Given the description of an element on the screen output the (x, y) to click on. 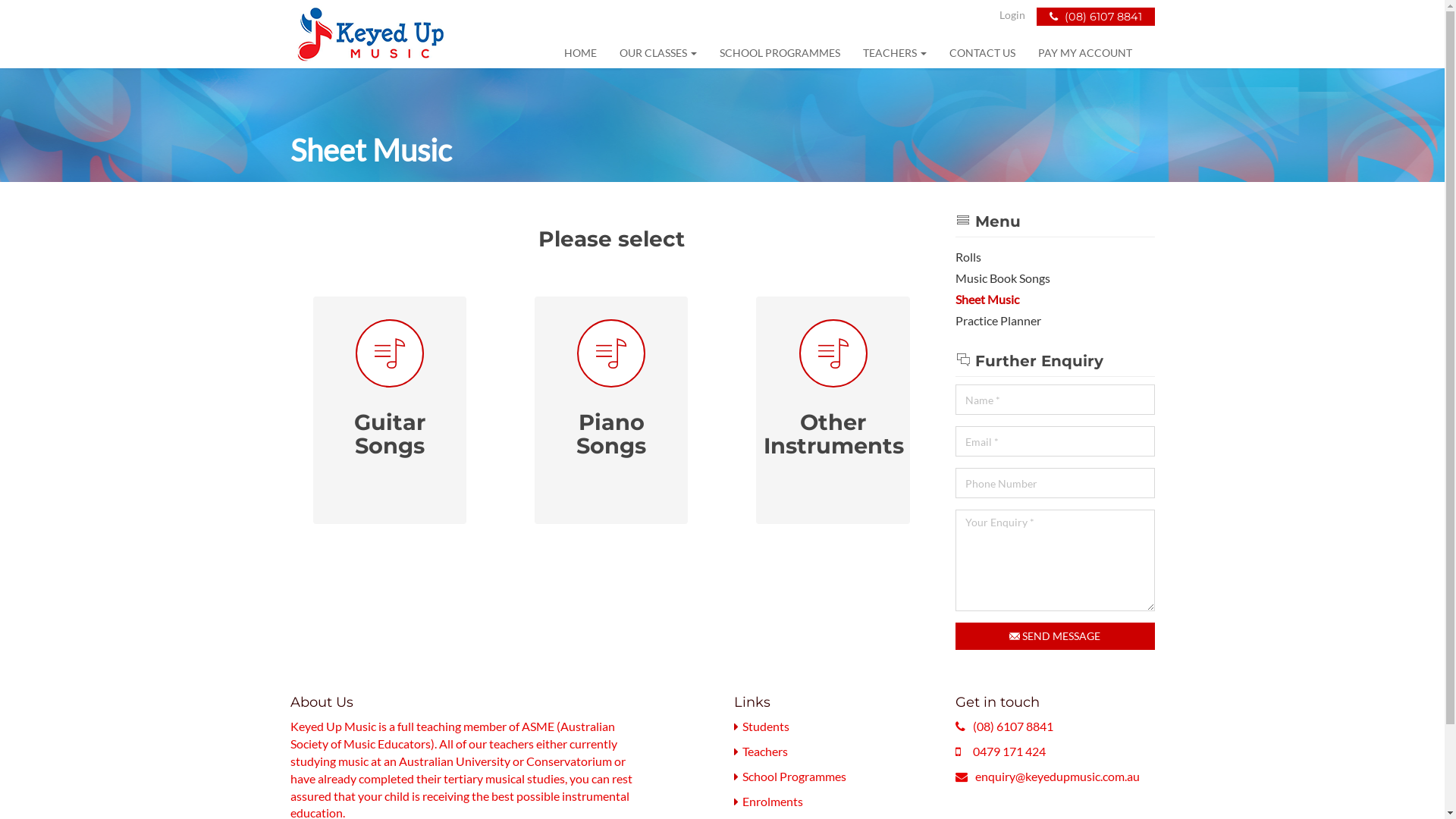
PAY MY ACCOUNT Element type: text (1084, 52)
Other
Instruments Element type: text (832, 388)
(08) 6107 8841 Element type: text (1012, 725)
Guitar
Songs Element type: text (389, 388)
enquiry@keyedupmusic.com.au Element type: text (1057, 775)
SEND MESSAGE Element type: text (1054, 635)
OUR CLASSES Element type: text (658, 52)
CONTACT US Element type: text (981, 52)
(08) 6107 8841 Element type: text (1094, 16)
Rolls Element type: text (1054, 257)
School Programmes Element type: text (793, 775)
Students Element type: text (764, 725)
Music Book Songs Element type: text (1054, 278)
Practice Planner Element type: text (1054, 320)
SCHOOL PROGRAMMES Element type: text (779, 52)
Sheet Music Element type: text (1054, 299)
Teachers Element type: text (764, 750)
Login Element type: text (1011, 14)
Piano
Songs Element type: text (611, 388)
0479 171 424 Element type: text (1008, 750)
Enrolments Element type: text (771, 800)
TEACHERS Element type: text (893, 52)
HOME Element type: text (579, 52)
